Given the description of an element on the screen output the (x, y) to click on. 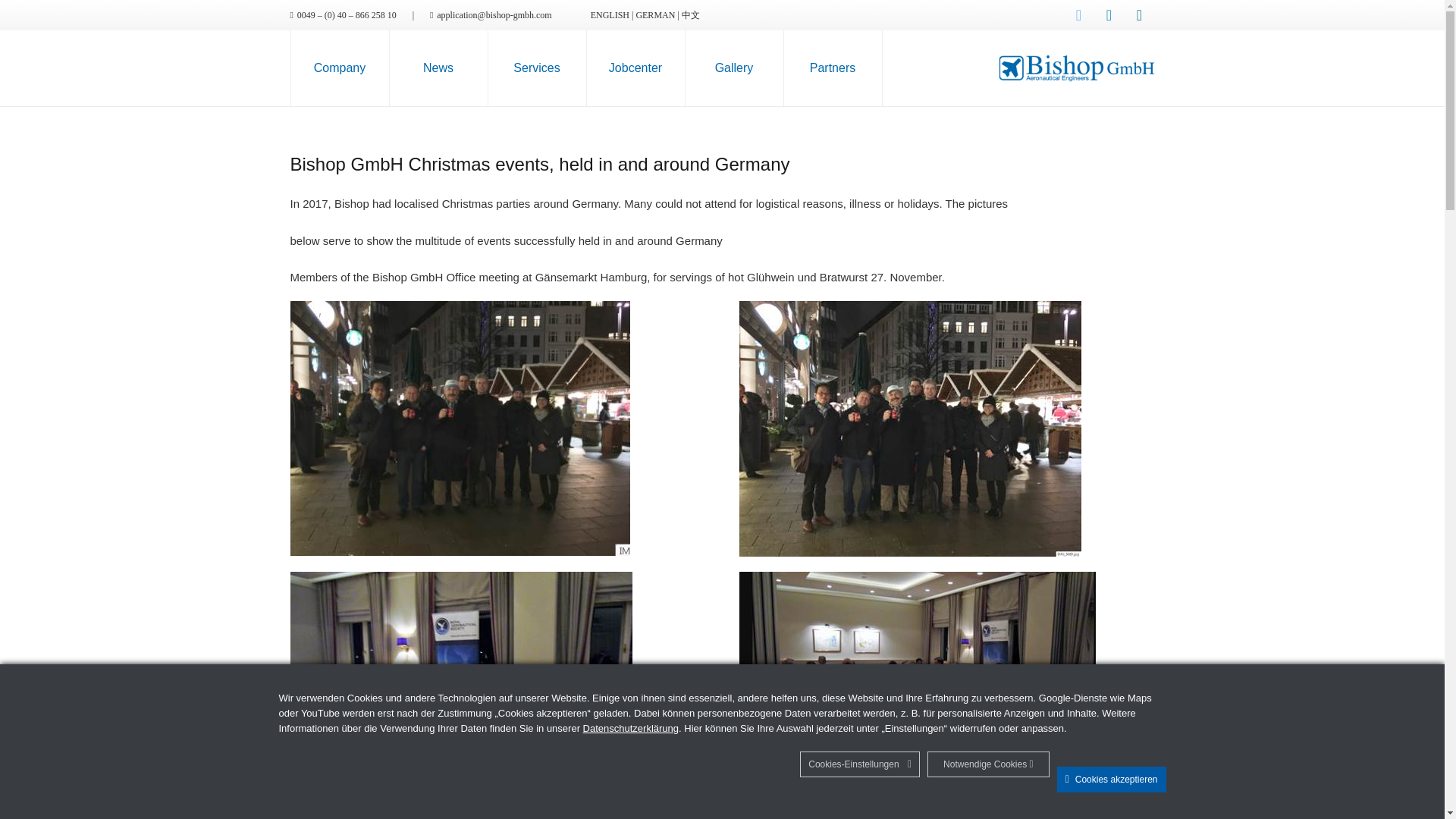
Twitter (1079, 15)
ENGLISH (609, 14)
GERMAN (654, 14)
Services (536, 68)
LinkedIn (1109, 15)
Company (339, 68)
Jobcenter (635, 68)
Xing (1139, 15)
News (438, 68)
